Given the description of an element on the screen output the (x, y) to click on. 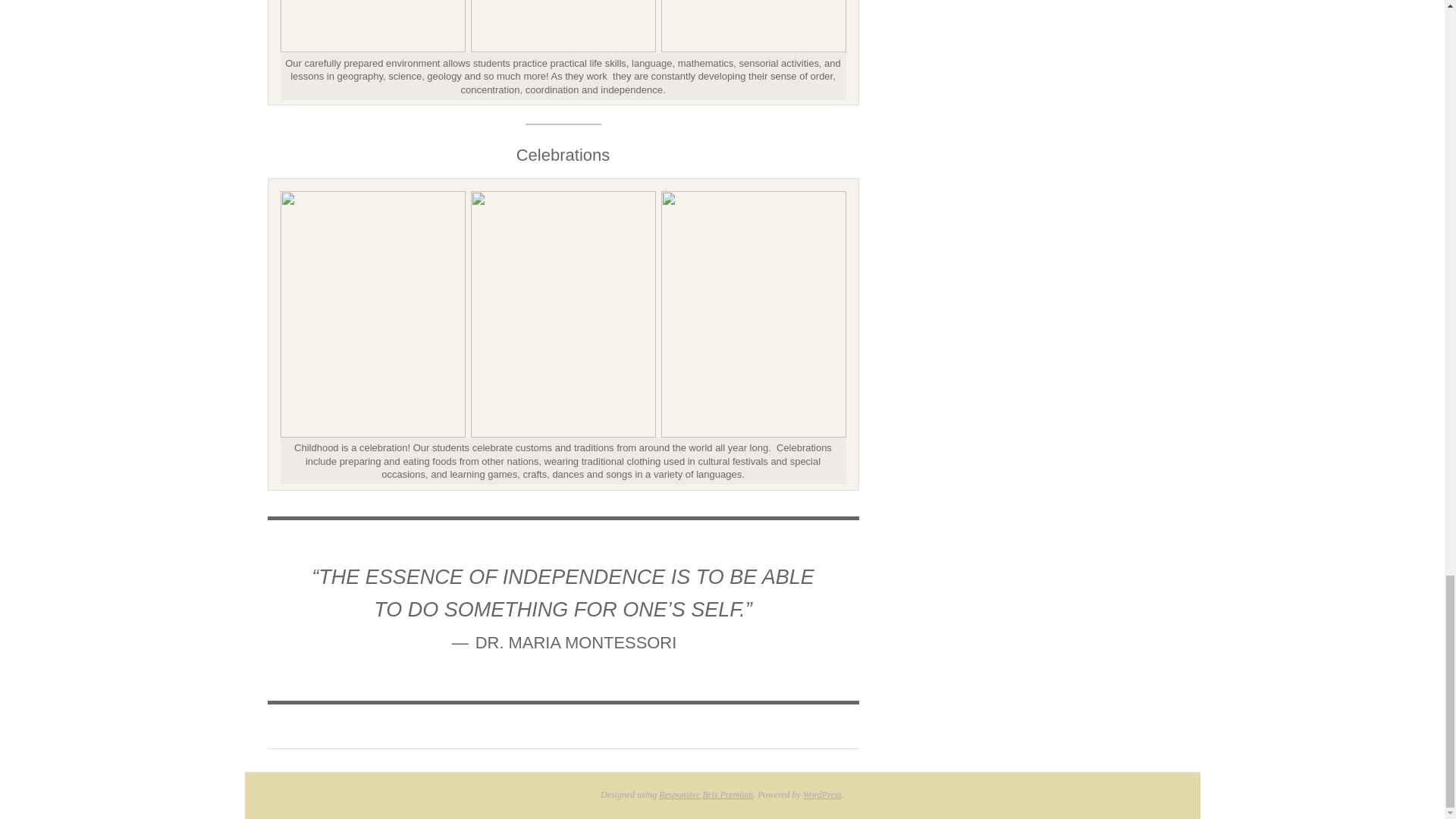
Responsive Brix Premium (705, 794)
State-of-the-art semantic personal publishing platform (822, 794)
Responsive Brix Premium WordPress Theme (705, 794)
WordPress (822, 794)
